Given the description of an element on the screen output the (x, y) to click on. 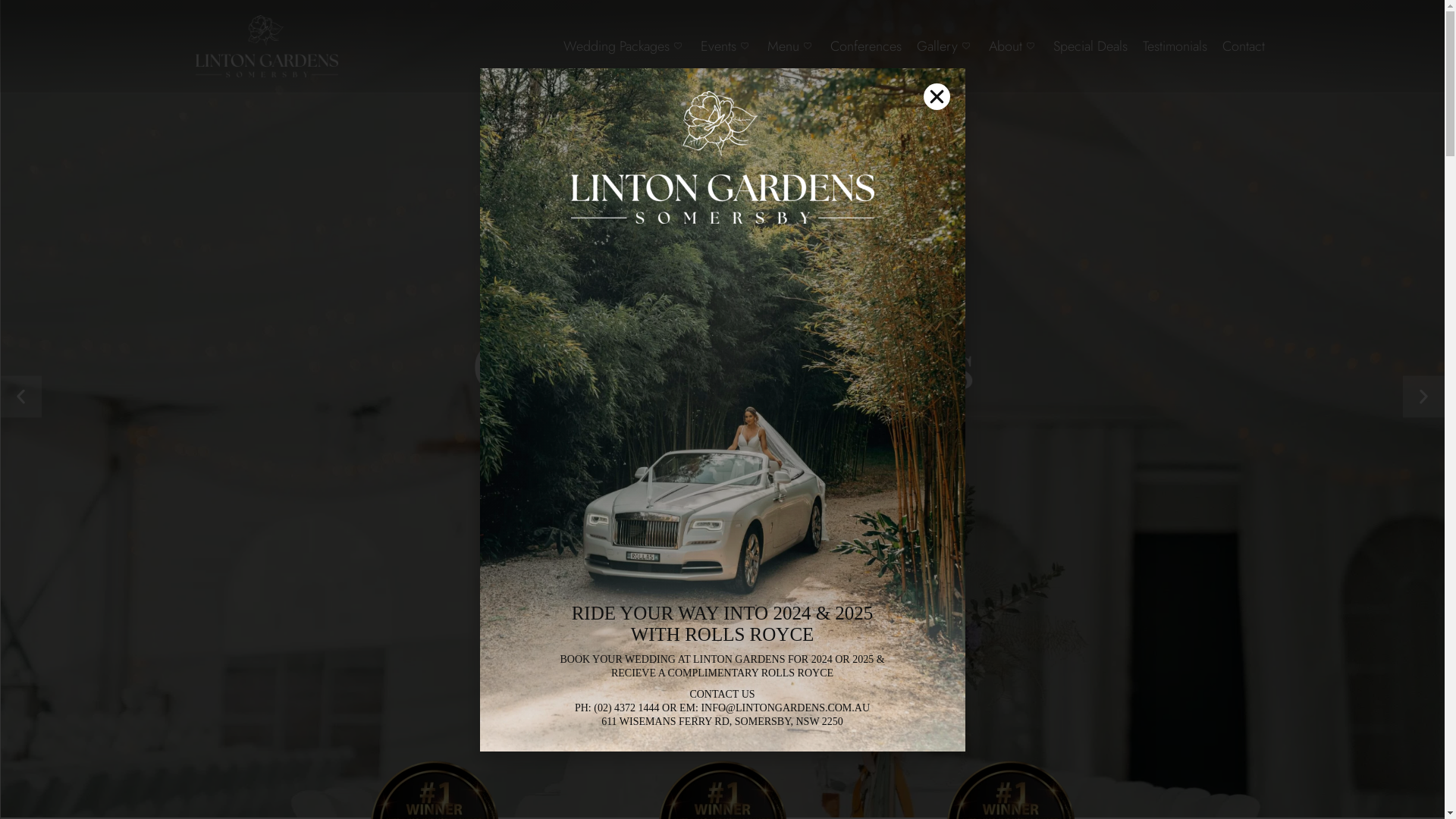
Contact Element type: text (1243, 46)
Gallery Element type: text (945, 46)
Events Element type: text (726, 46)
Wedding Packages Element type: text (624, 46)
Menu Element type: text (790, 46)
Testimonials Element type: text (1174, 46)
Conferences Element type: text (865, 46)
About Element type: text (1013, 46)
Get A Quote Element type: text (722, 458)
Special Deals Element type: text (1090, 46)
